Given the description of an element on the screen output the (x, y) to click on. 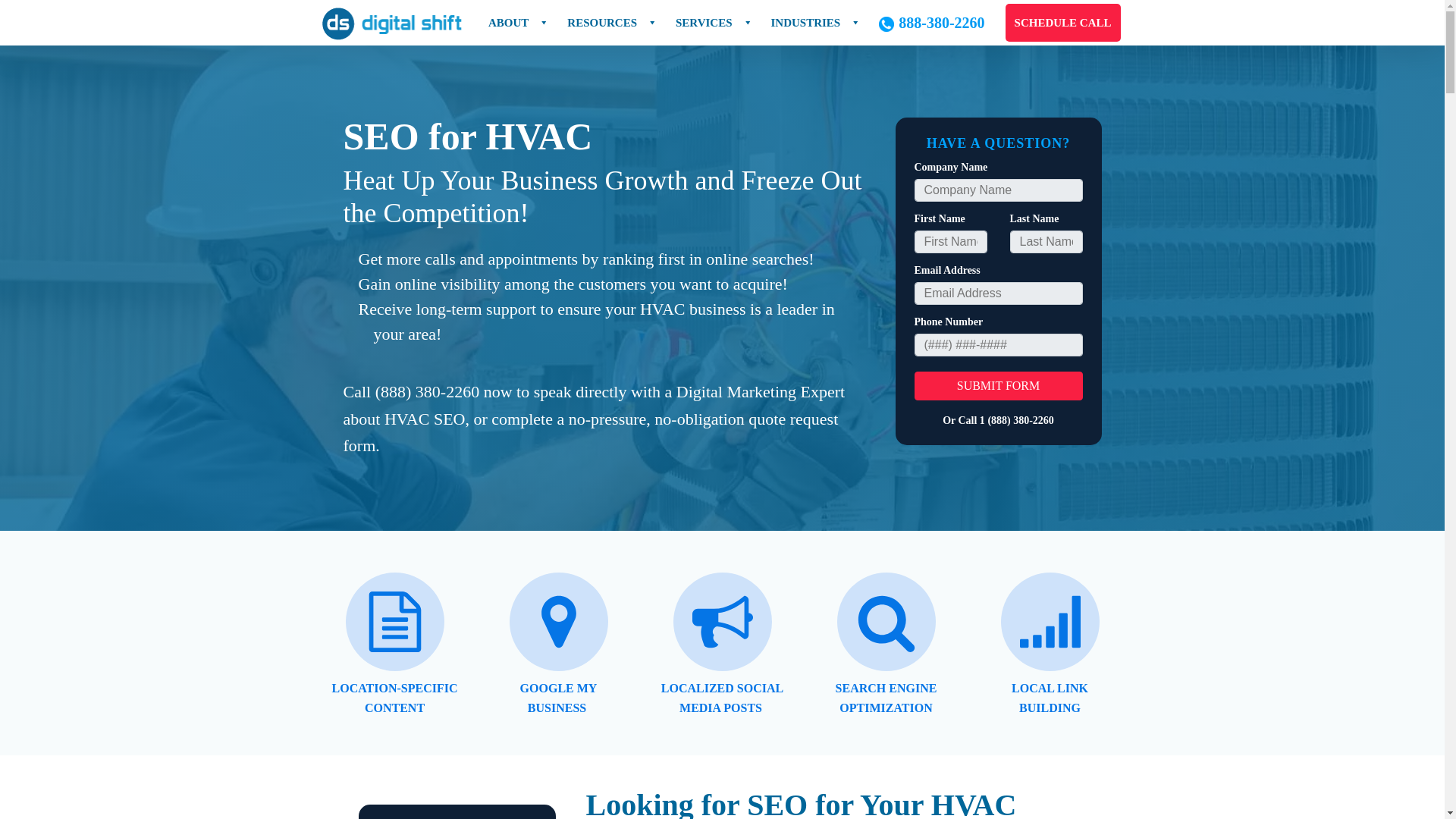
RESOURCES (611, 22)
SERVICES (713, 22)
ABOUT (518, 22)
INDUSTRIES (815, 22)
